Given the description of an element on the screen output the (x, y) to click on. 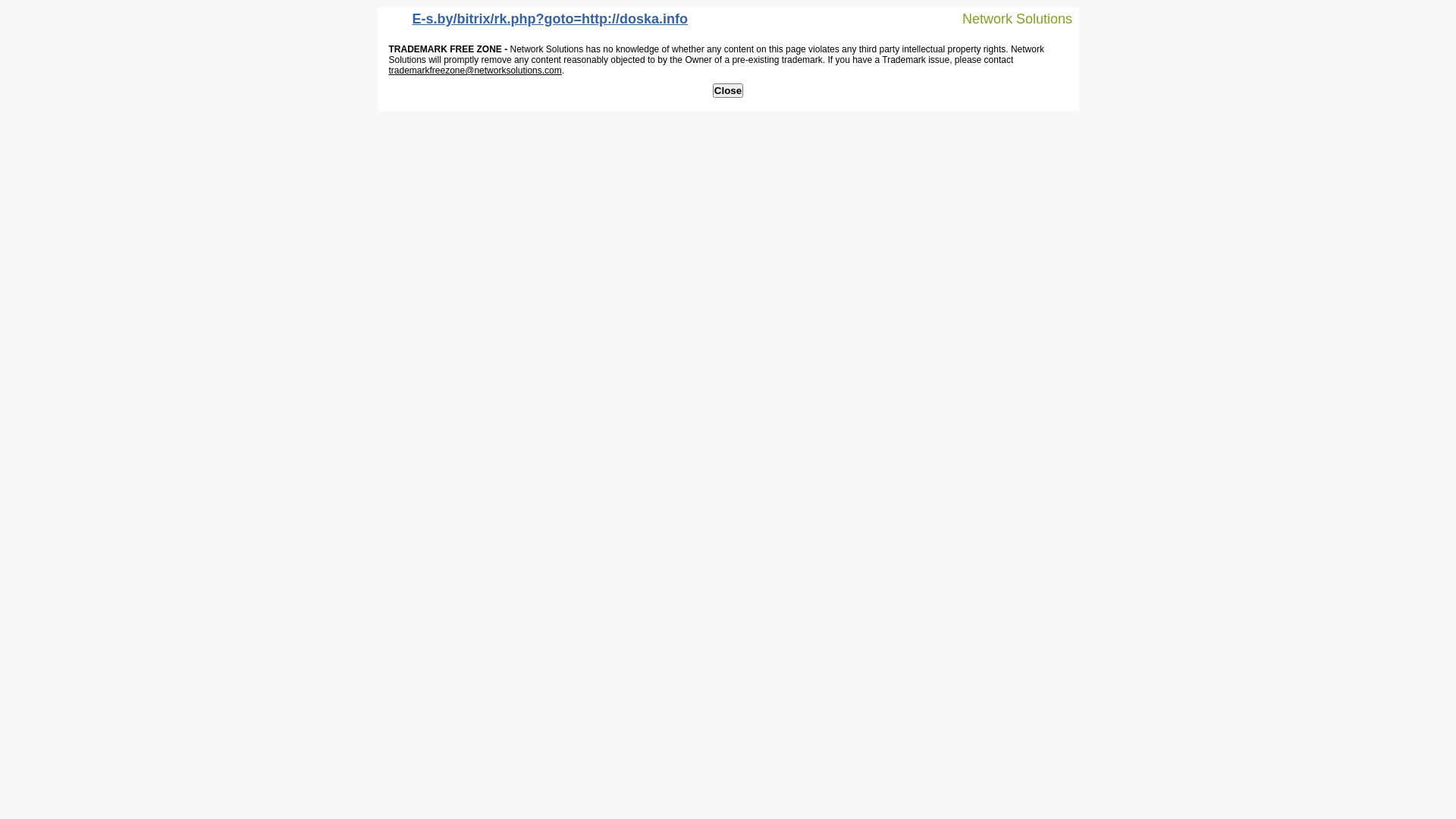
E-s.by/bitrix/rk.php?goto=http://doska.info Element type: text (536, 21)
Network Solutions Element type: text (1007, 17)
Close Element type: text (727, 90)
trademarkfreezone@networksolutions.com Element type: text (474, 70)
